Given the description of an element on the screen output the (x, y) to click on. 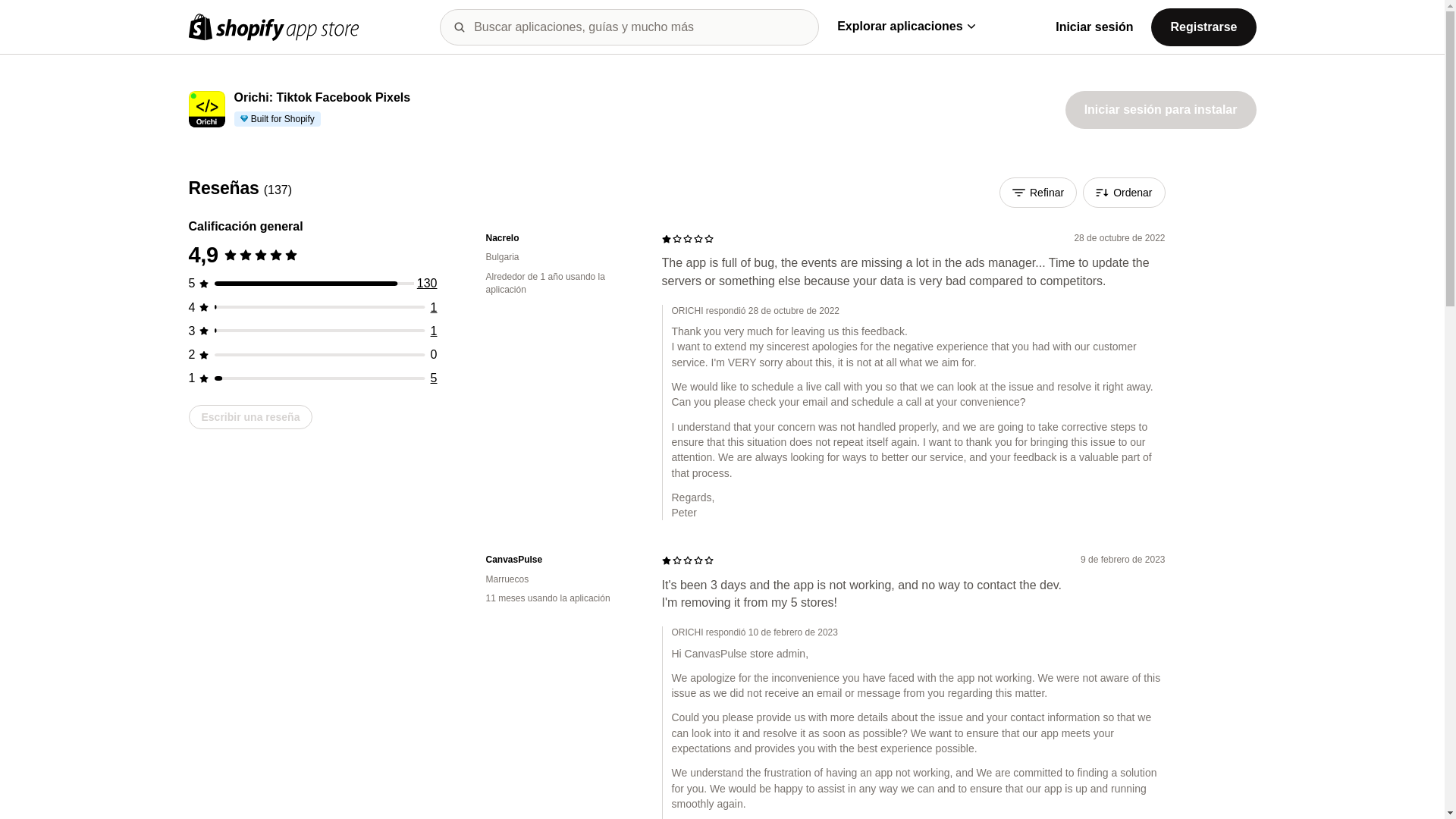
Nacrelo (560, 237)
CanvasPulse (560, 559)
Explorar aplicaciones (905, 26)
Refinar (1037, 192)
Registrarse (1203, 26)
130 (427, 282)
Orichi: Tiktok Facebook Pixels (321, 97)
